Given the description of an element on the screen output the (x, y) to click on. 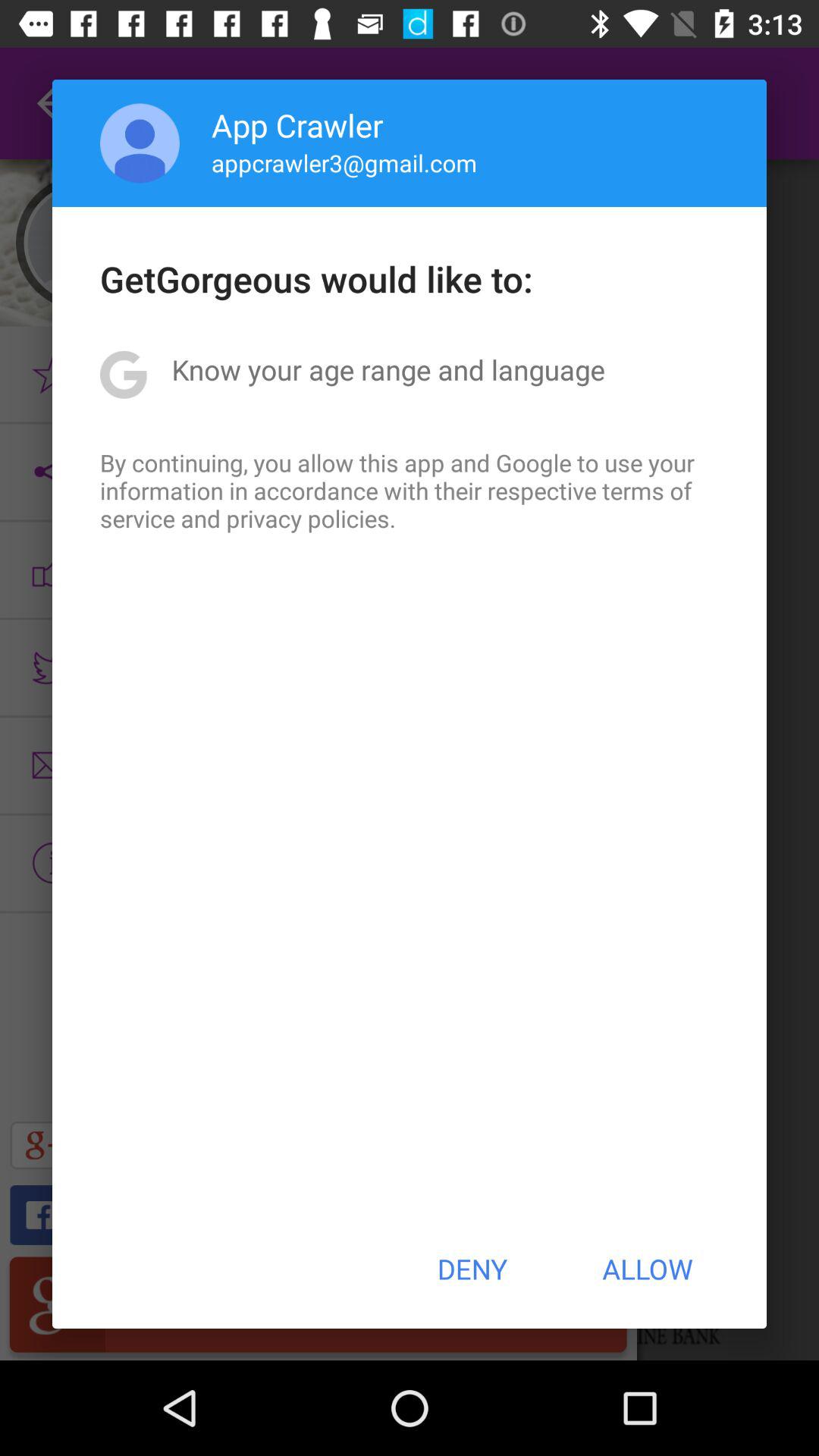
swipe until deny icon (471, 1268)
